Given the description of an element on the screen output the (x, y) to click on. 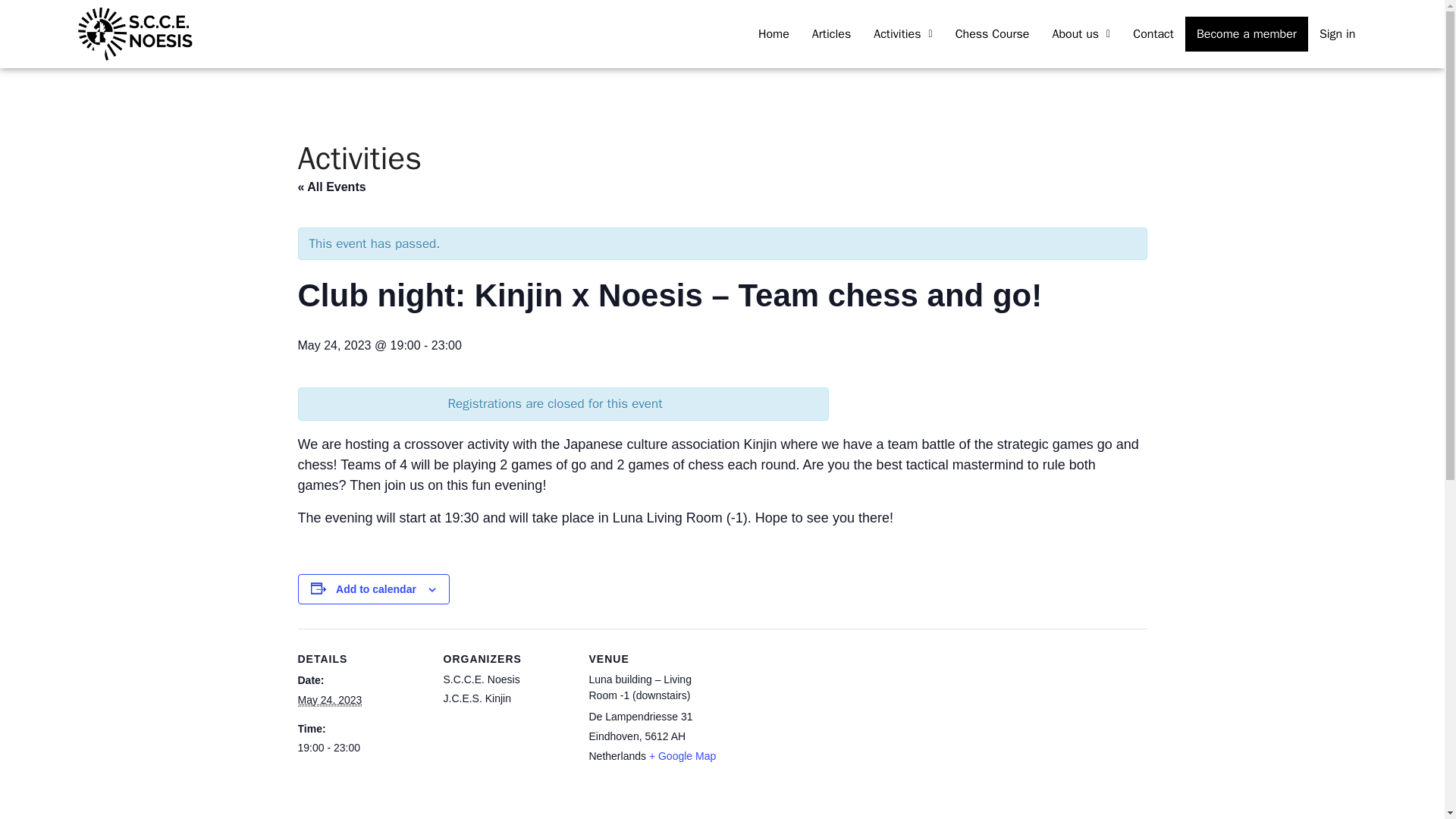
Activities (902, 33)
Contact (1153, 33)
Add to calendar (376, 589)
Chess Course (992, 33)
2023-05-24 (329, 699)
Click to view a Google Map (682, 756)
Become a member (1246, 33)
2023-05-24 (361, 747)
Home (773, 33)
Sign in (1337, 33)
